Given the description of an element on the screen output the (x, y) to click on. 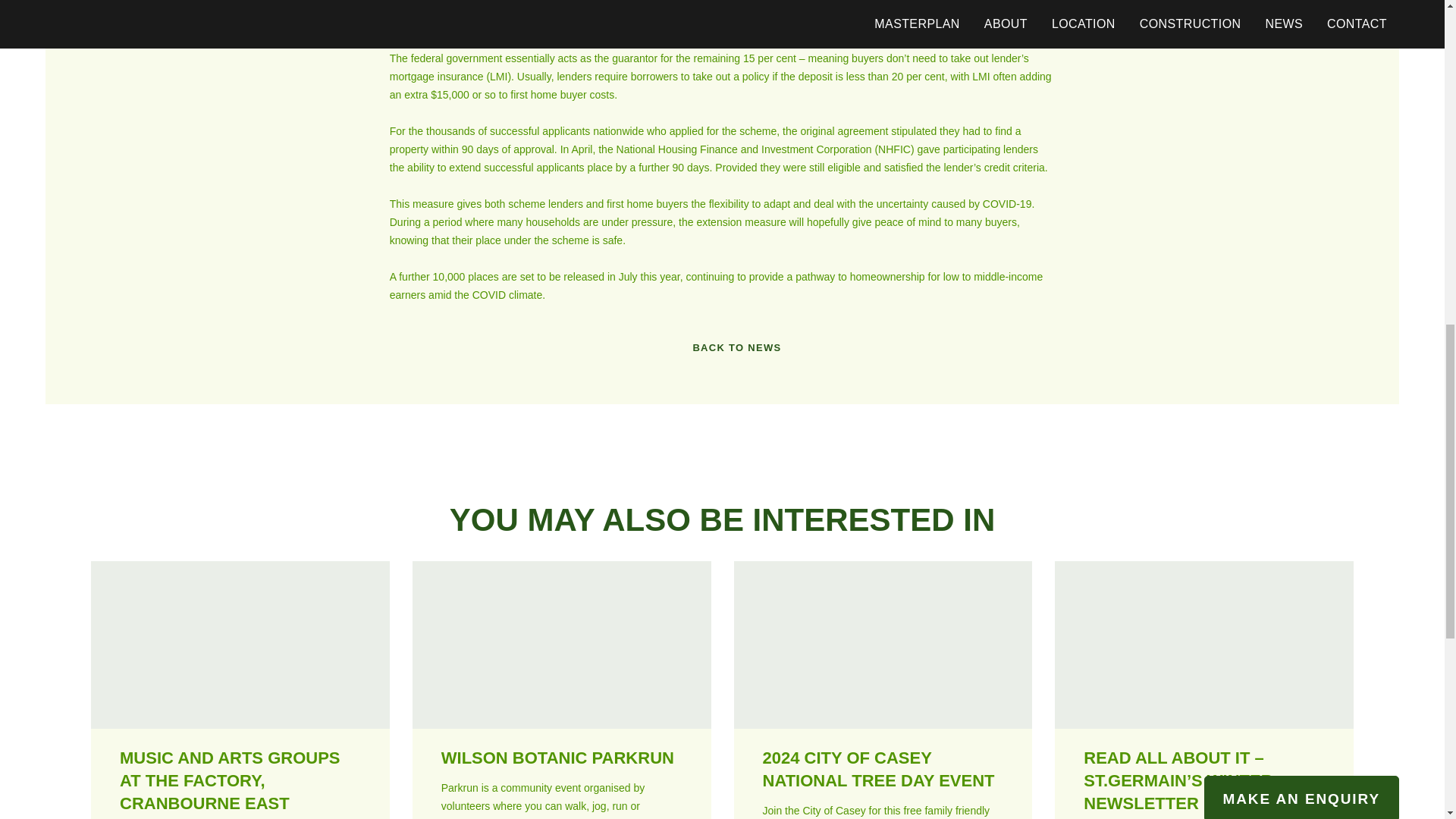
BACK TO NEWS (721, 347)
WILSON BOTANIC PARKRUN (557, 757)
First Home Loan Deposit Scheme (490, 21)
MUSIC AND ARTS GROUPS AT THE FACTORY, CRANBOURNE EAST (229, 780)
2024 CITY OF CASEY NATIONAL TREE DAY EVENT (878, 769)
